Given the description of an element on the screen output the (x, y) to click on. 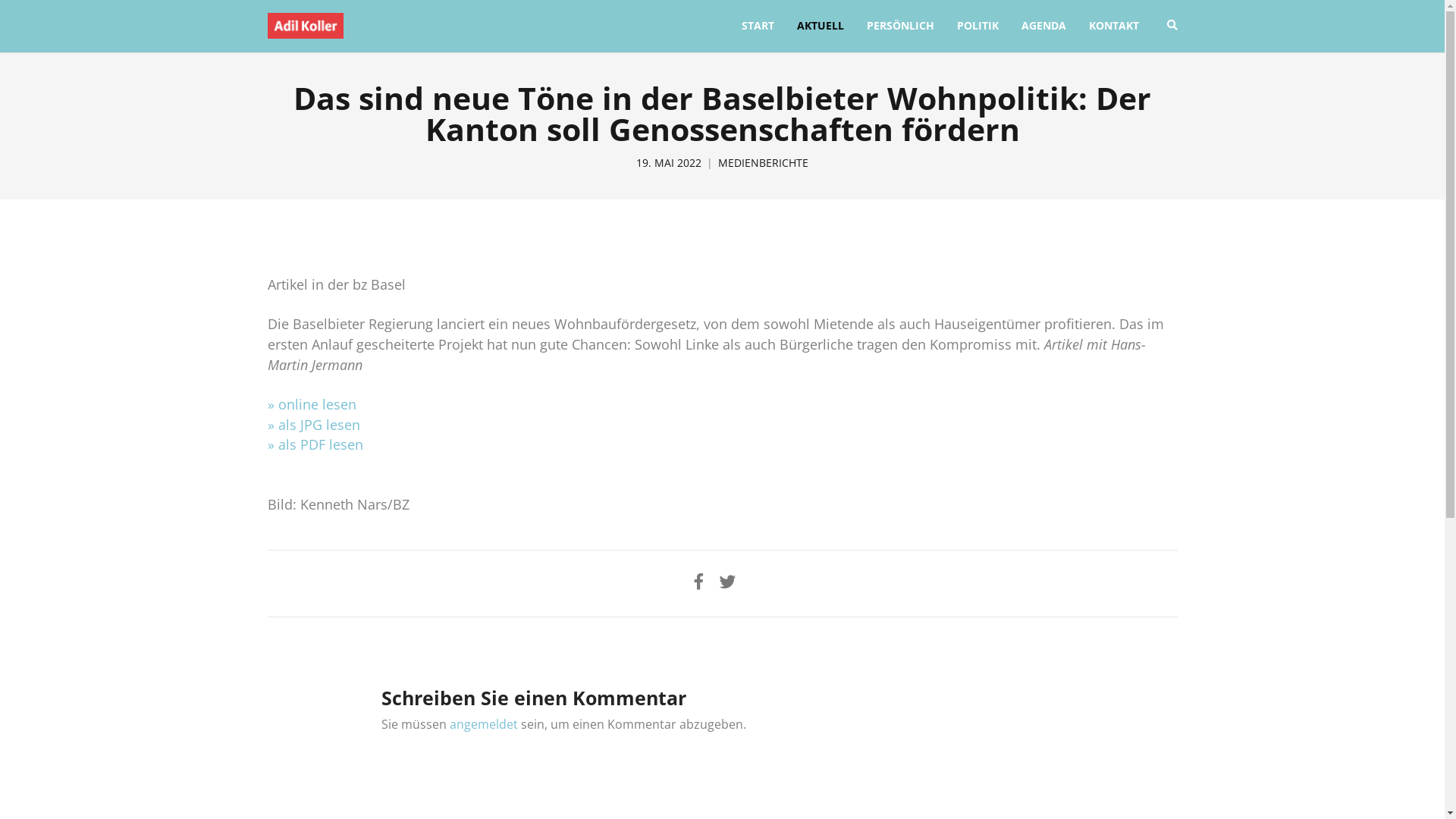
MEDIENBERICHTE Element type: text (763, 162)
Share on Twitter Element type: hover (726, 581)
angemeldet Element type: text (482, 723)
Share on Facebook Element type: hover (698, 581)
